Given the description of an element on the screen output the (x, y) to click on. 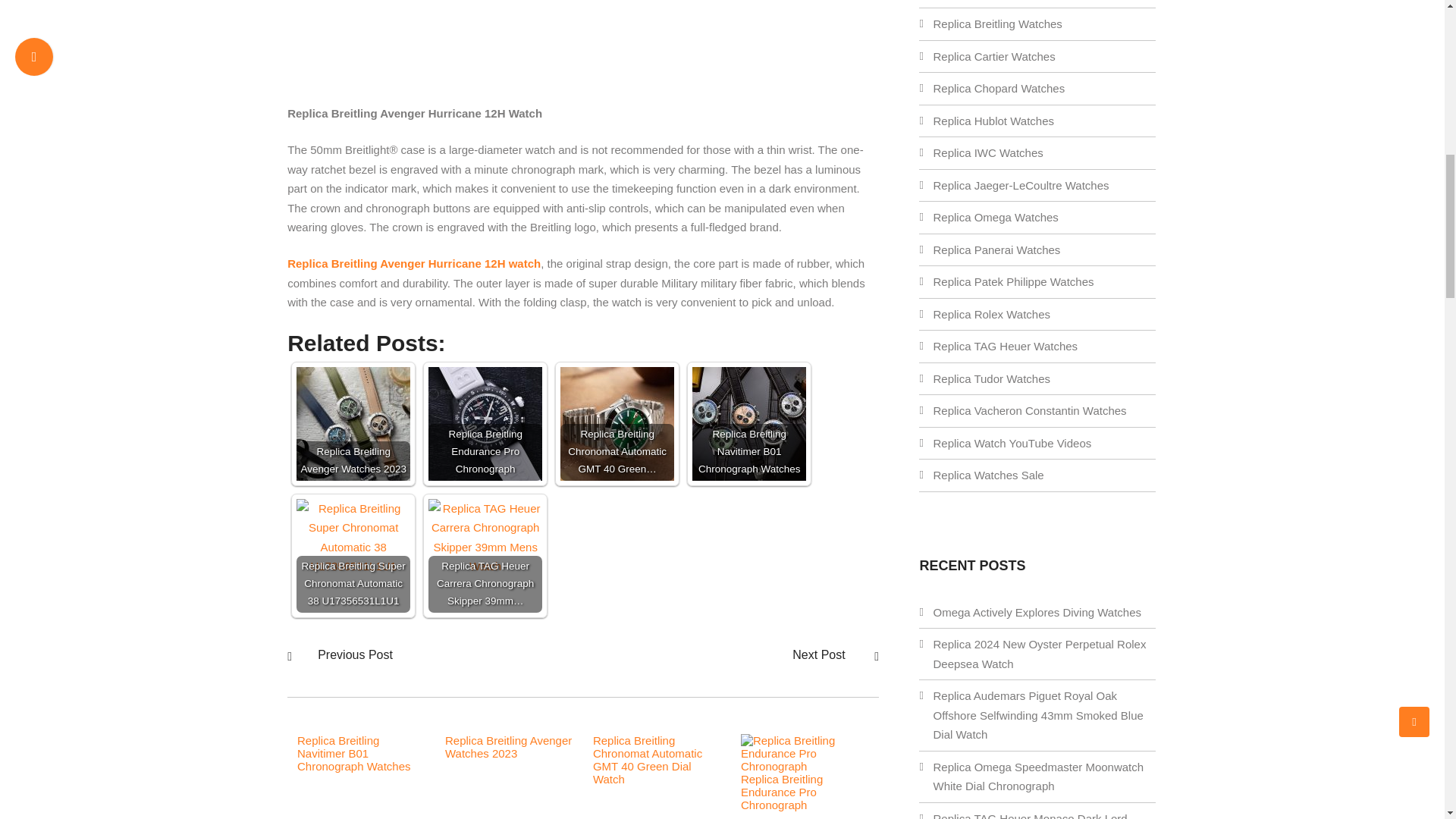
Replica Breitling Avenger Watches 2023 (353, 423)
Replica Breitling Navitimer B01 Chronograph Watches (749, 423)
Replica Breitling Navitimer B01 Chronograph Watches (749, 423)
Replica Breitling Super Chronomat Automatic 38 U17356531L1U1 (353, 537)
Replica Breitling Endurance Pro Chronograph (805, 766)
Replica Breitling Navitimer B01 Chronograph Watches (353, 753)
Next Post  (820, 654)
Replica Breitling Super Chronomat Automatic 38 U17356531L1U1 (353, 555)
Replica Breitling Navitimer B01 Chronograph Watches (353, 753)
Replica Breitling Endurance Pro Chronograph (484, 423)
Replica Breitling Avenger Watches 2023 (508, 746)
